Given the description of an element on the screen output the (x, y) to click on. 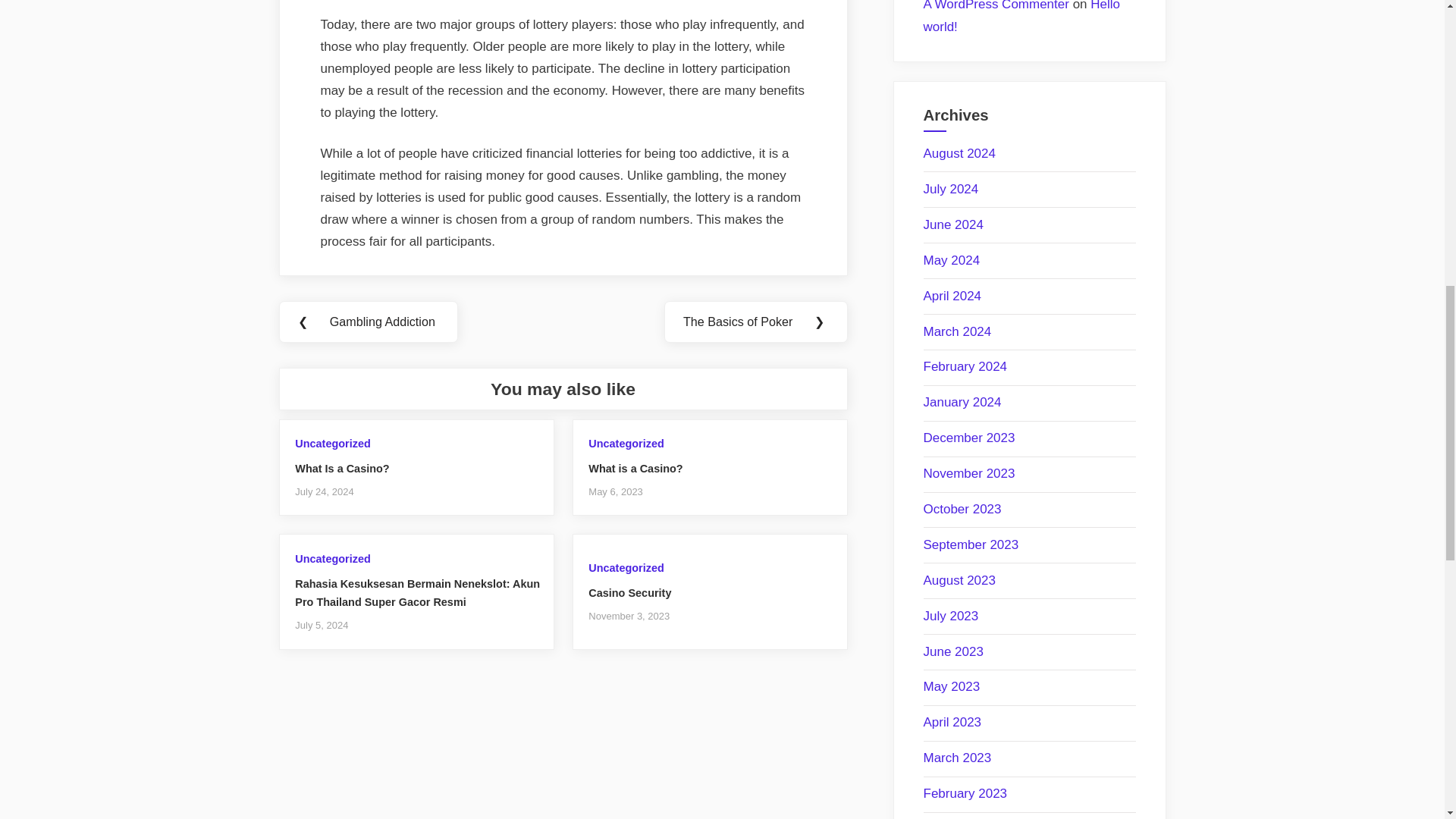
August 2024 (959, 153)
Uncategorized (332, 558)
June 2024 (953, 224)
May 2024 (951, 260)
February 2024 (965, 366)
January 2024 (962, 401)
Uncategorized (625, 443)
April 2024 (952, 296)
July 2024 (950, 188)
